Given the description of an element on the screen output the (x, y) to click on. 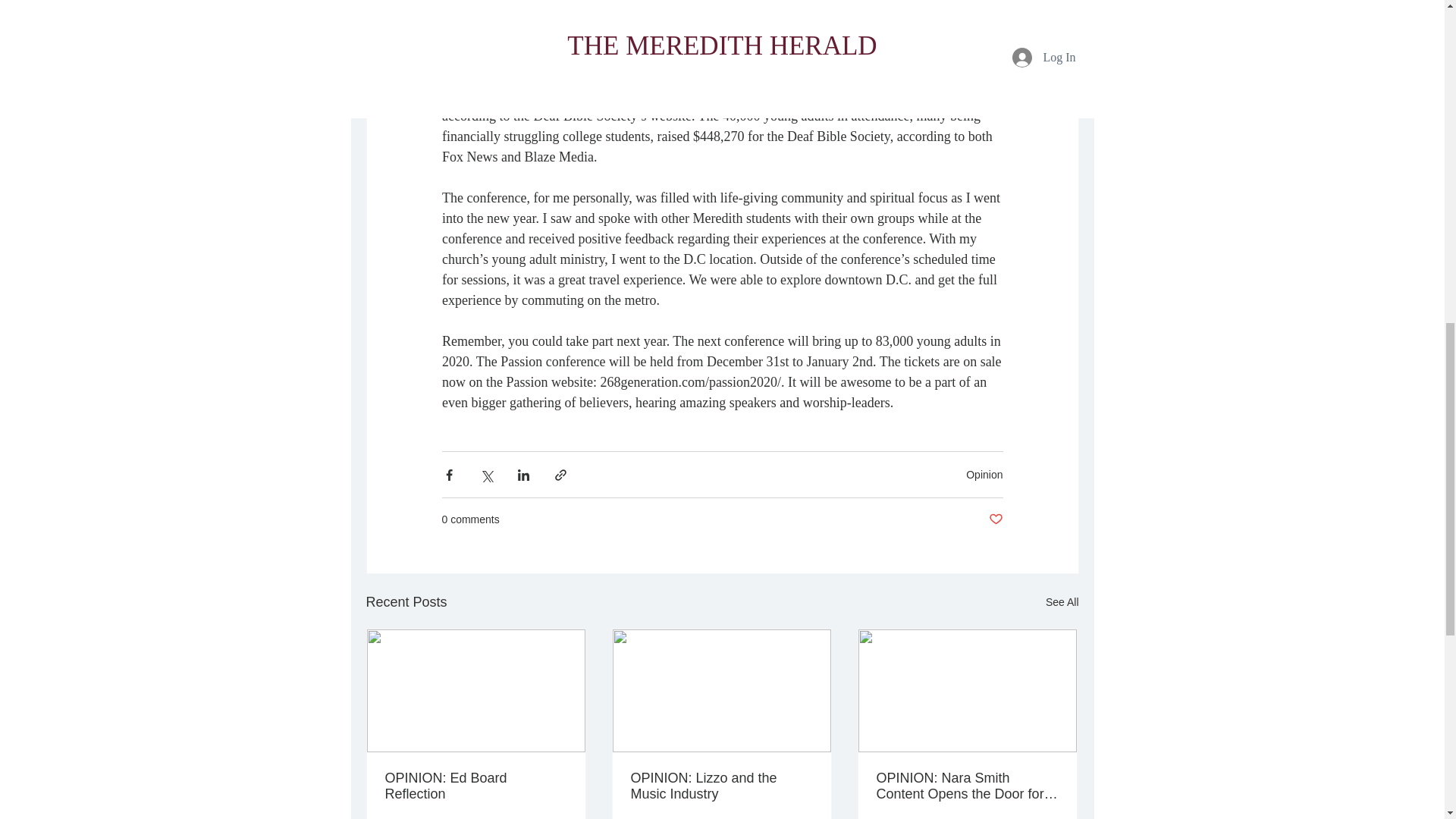
OPINION: Lizzo and the Music Industry (721, 786)
OPINION: Ed Board Reflection (476, 786)
Post not marked as liked (995, 519)
See All (1061, 602)
Opinion (984, 474)
